Given the description of an element on the screen output the (x, y) to click on. 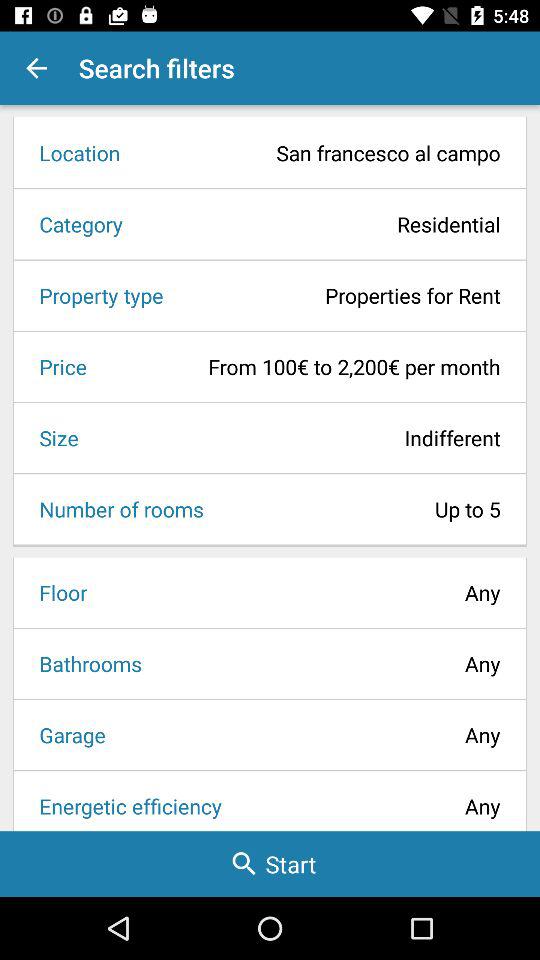
flip until bathrooms icon (84, 663)
